Given the description of an element on the screen output the (x, y) to click on. 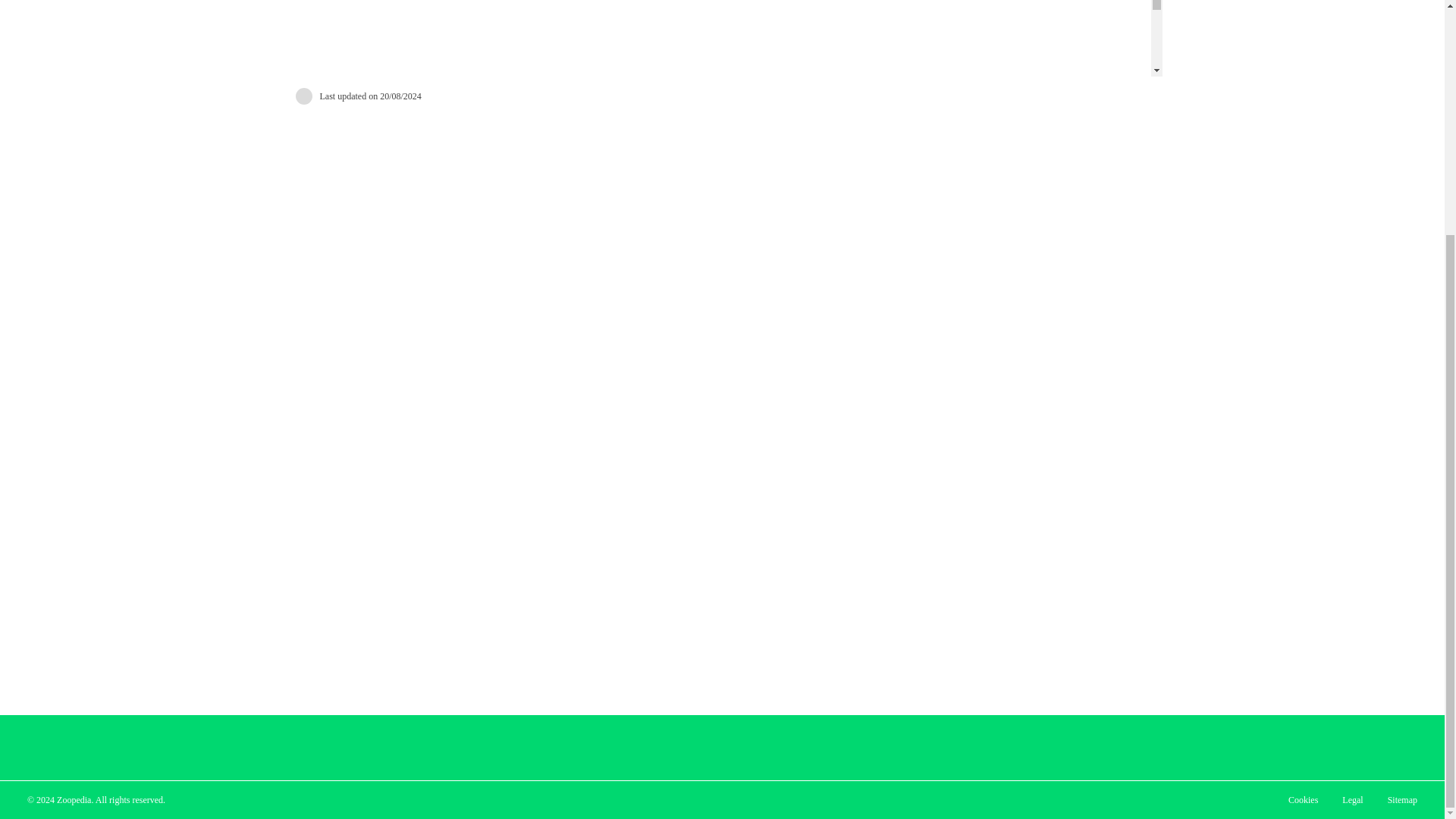
Cookies (1303, 799)
Legal (1352, 799)
Sitemap (1402, 799)
